Given the description of an element on the screen output the (x, y) to click on. 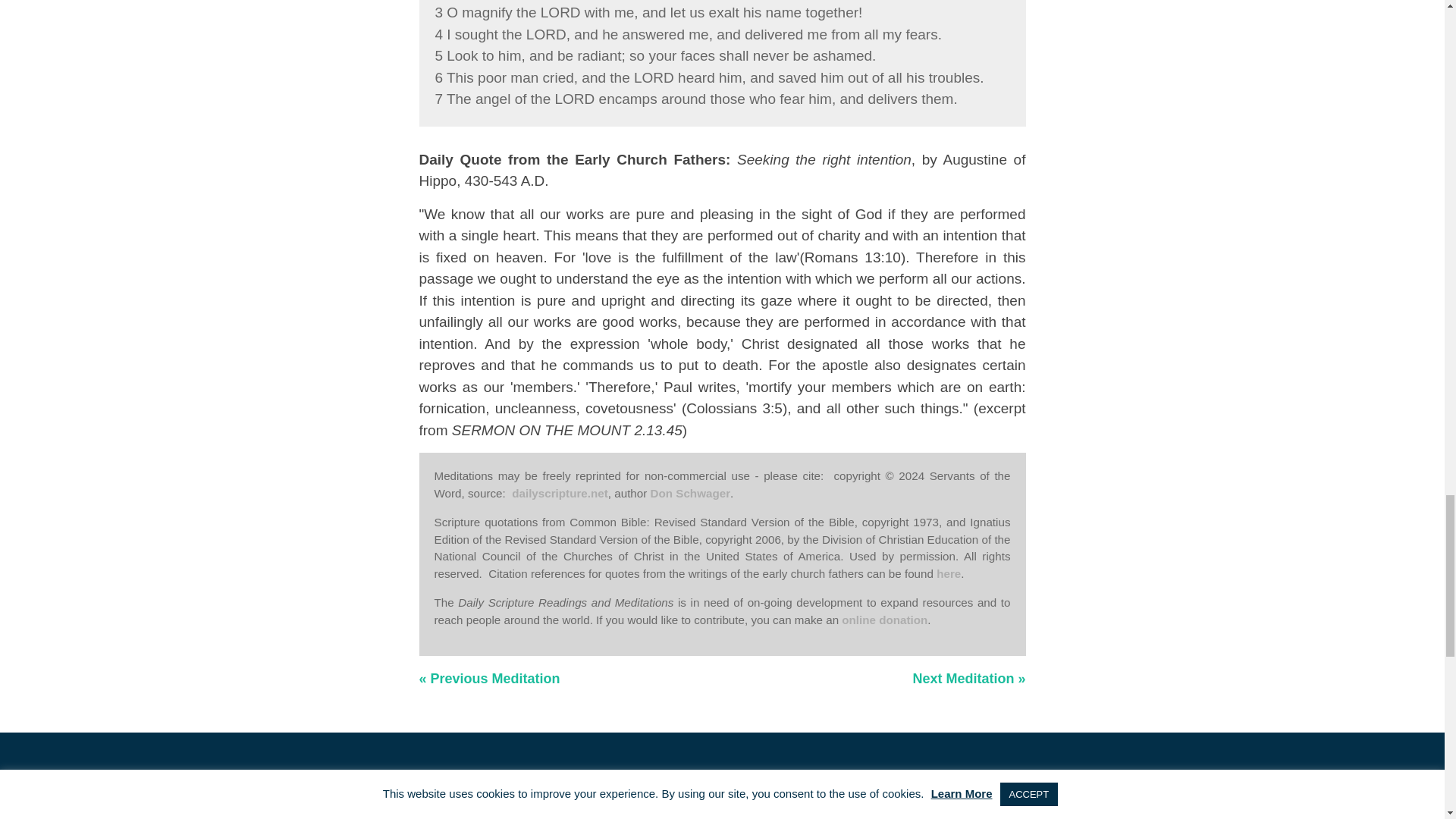
dailyscripture.net (560, 492)
online donation (884, 619)
here (948, 573)
Don Schwager (690, 492)
